Given the description of an element on the screen output the (x, y) to click on. 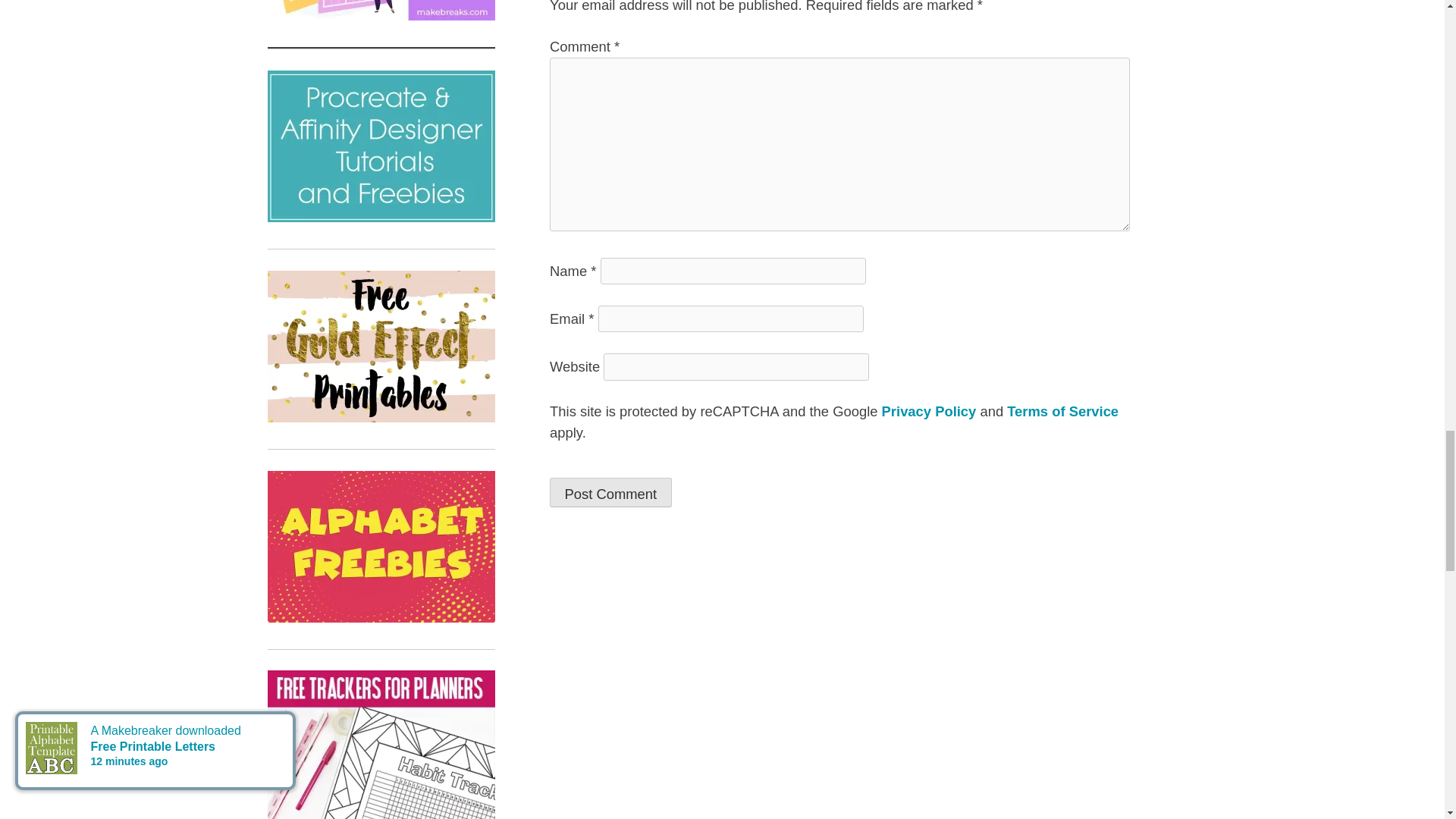
Post Comment (610, 491)
